Given the description of an element on the screen output the (x, y) to click on. 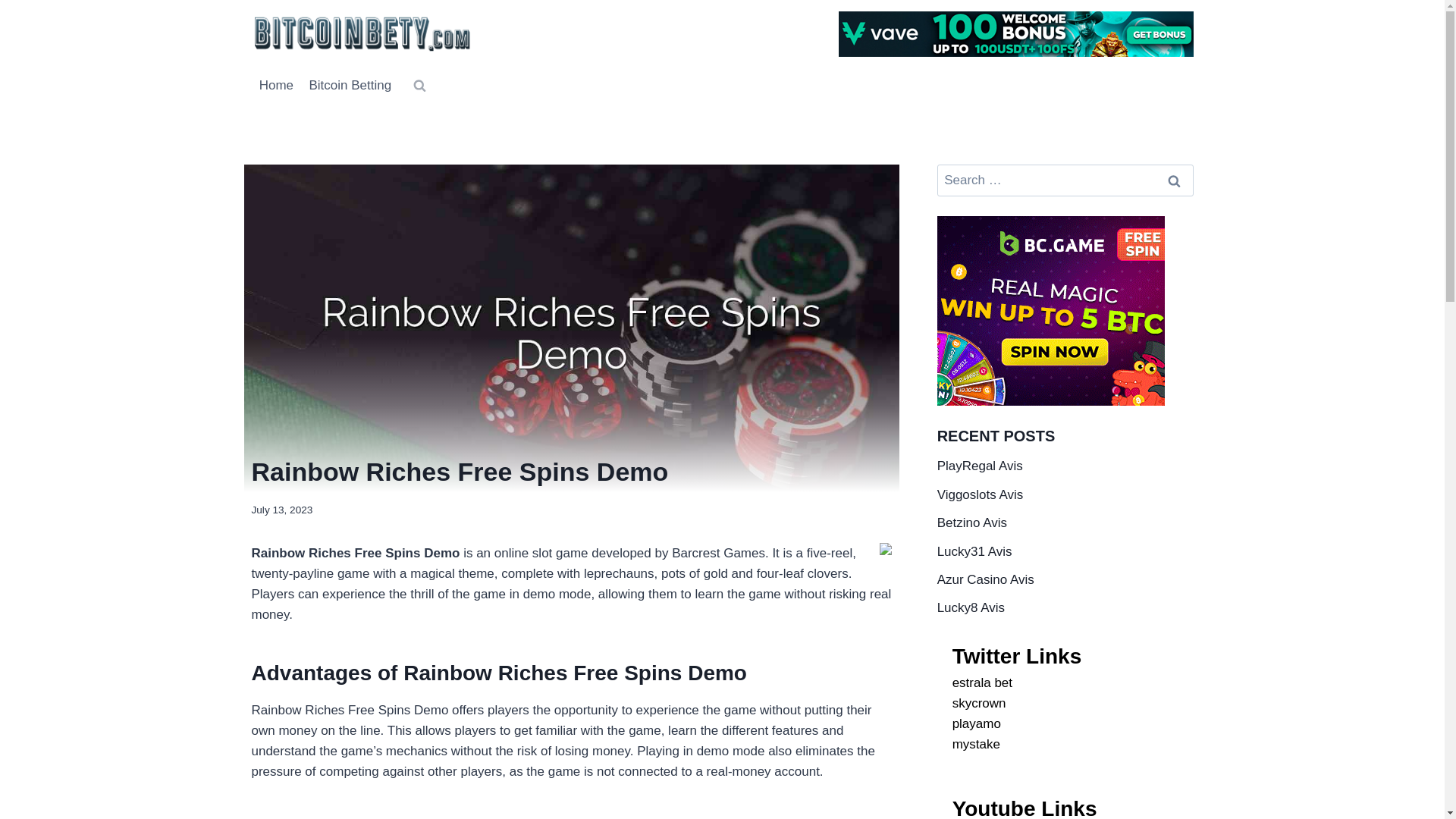
estrala bet (981, 682)
mystake (976, 744)
playamo (976, 723)
skycrown (979, 703)
Search (1174, 180)
Bitcoin Betting (349, 85)
Home (276, 85)
Search (1174, 180)
